Given the description of an element on the screen output the (x, y) to click on. 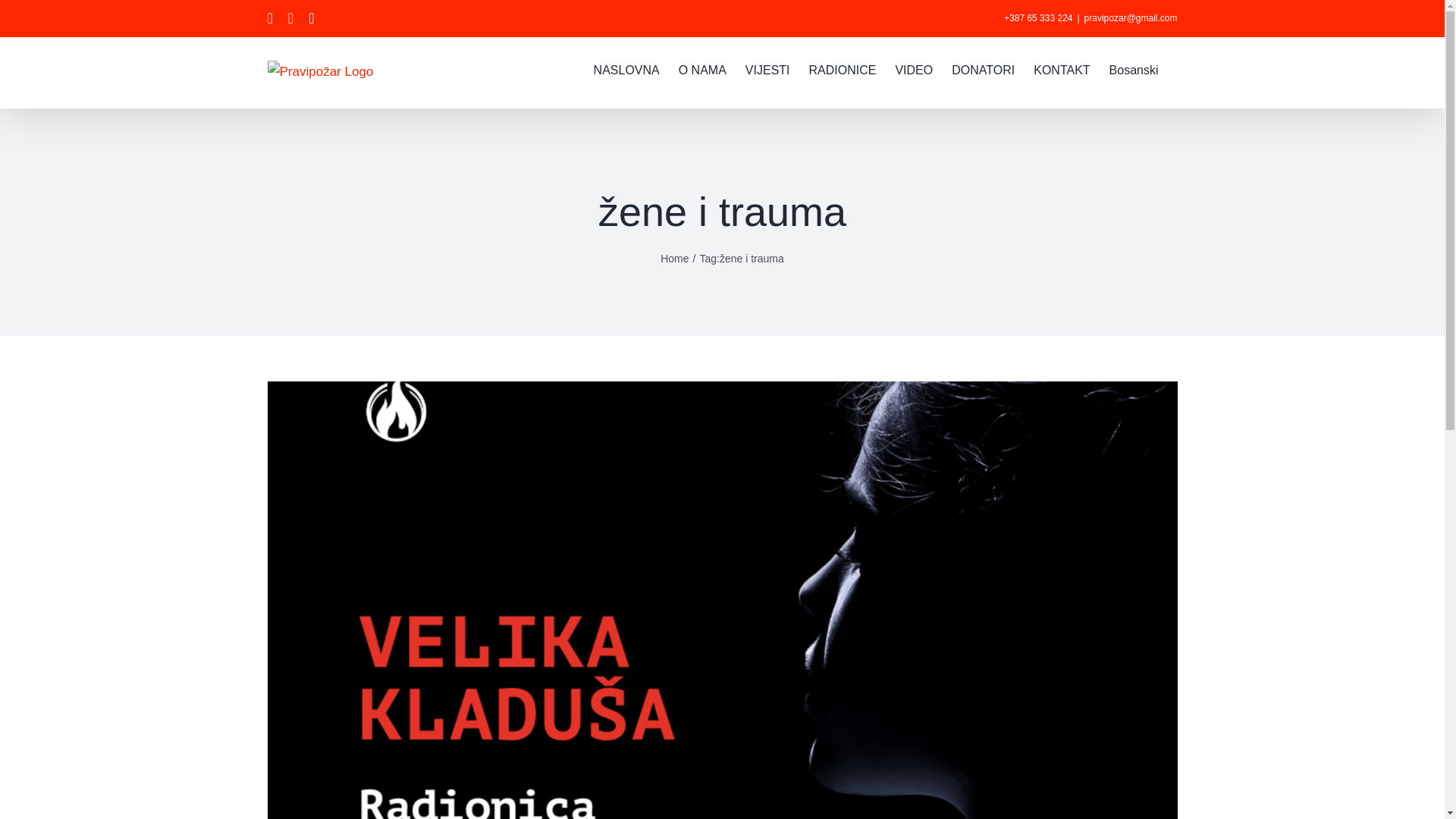
VIDEO Element type: text (913, 68)
Home Element type: text (674, 258)
YouTube Element type: text (310, 17)
VIJESTI Element type: text (767, 68)
Bosanski Element type: text (1133, 68)
pravipozar@gmail.com Element type: text (1130, 17)
O NAMA Element type: text (702, 68)
KONTAKT Element type: text (1061, 68)
RADIONICE Element type: text (842, 68)
NASLOVNA Element type: text (626, 68)
Facebook Element type: text (269, 17)
DONATORI Element type: text (982, 68)
Instagram Element type: text (290, 17)
